Given the description of an element on the screen output the (x, y) to click on. 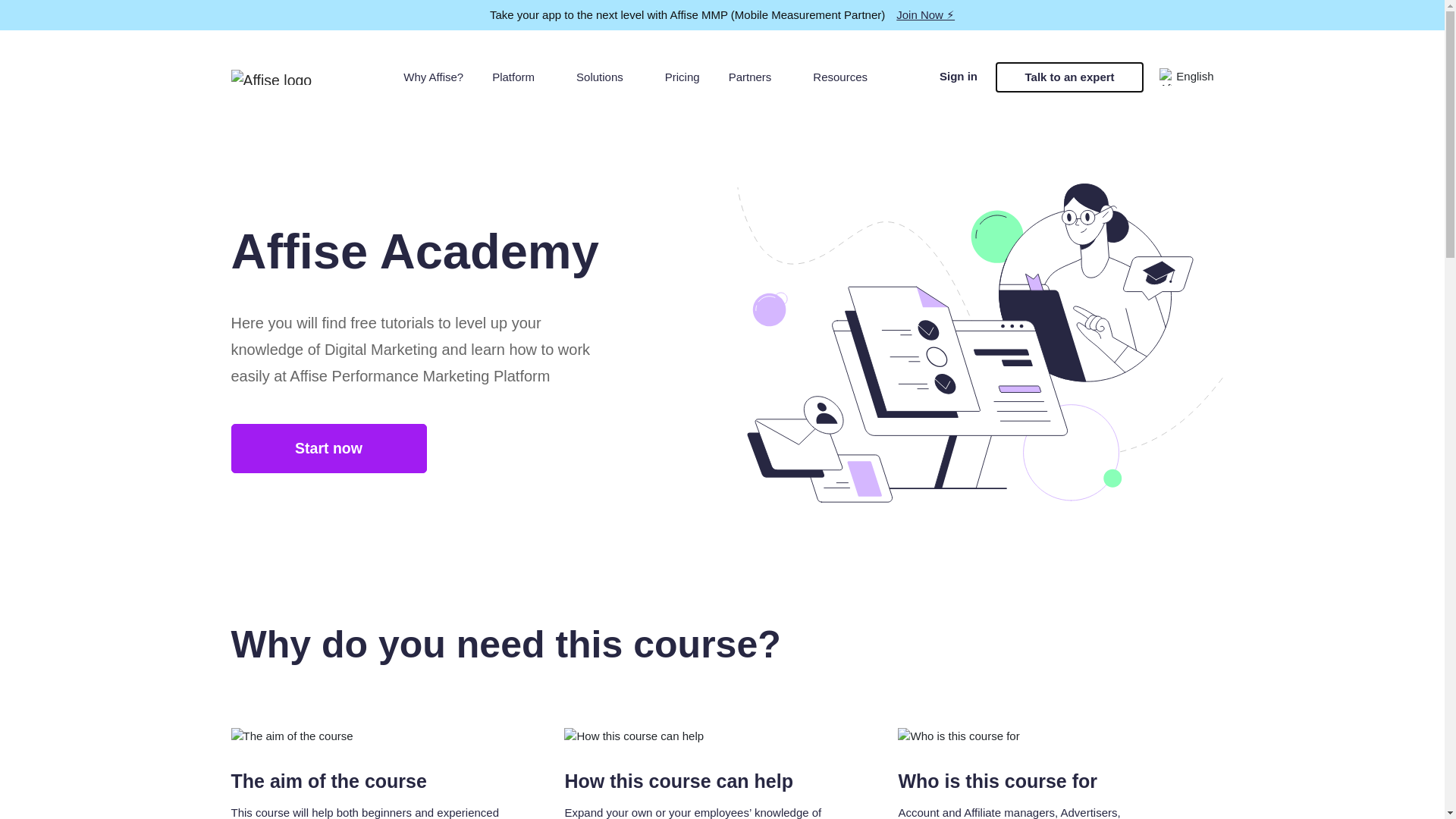
Why Affise? (433, 77)
Solutions (606, 77)
Platform (519, 77)
